Given the description of an element on the screen output the (x, y) to click on. 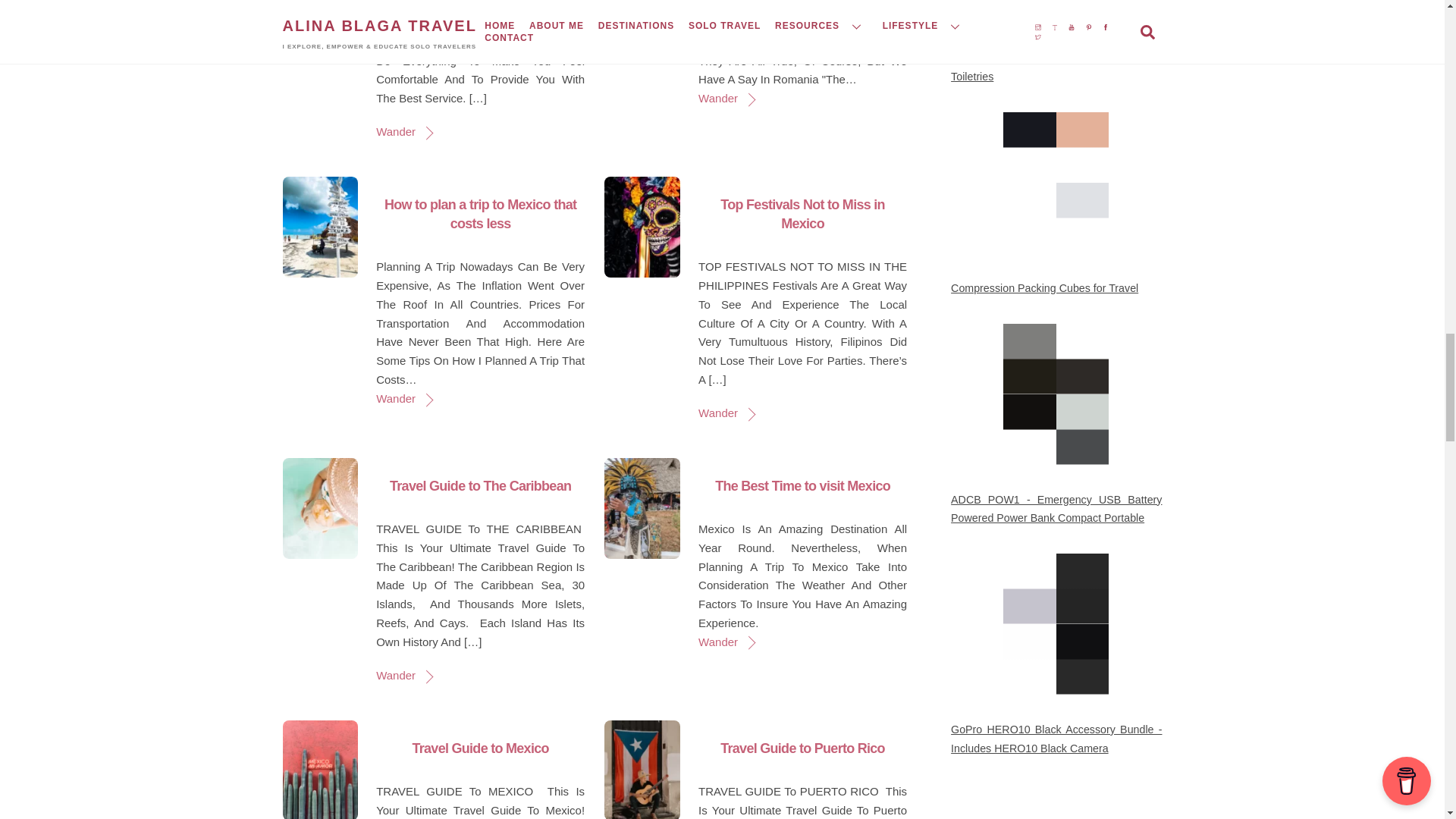
Wander (402, 131)
Wander (725, 97)
How to plan a trip to Mexico that costs less (480, 213)
